Given the description of an element on the screen output the (x, y) to click on. 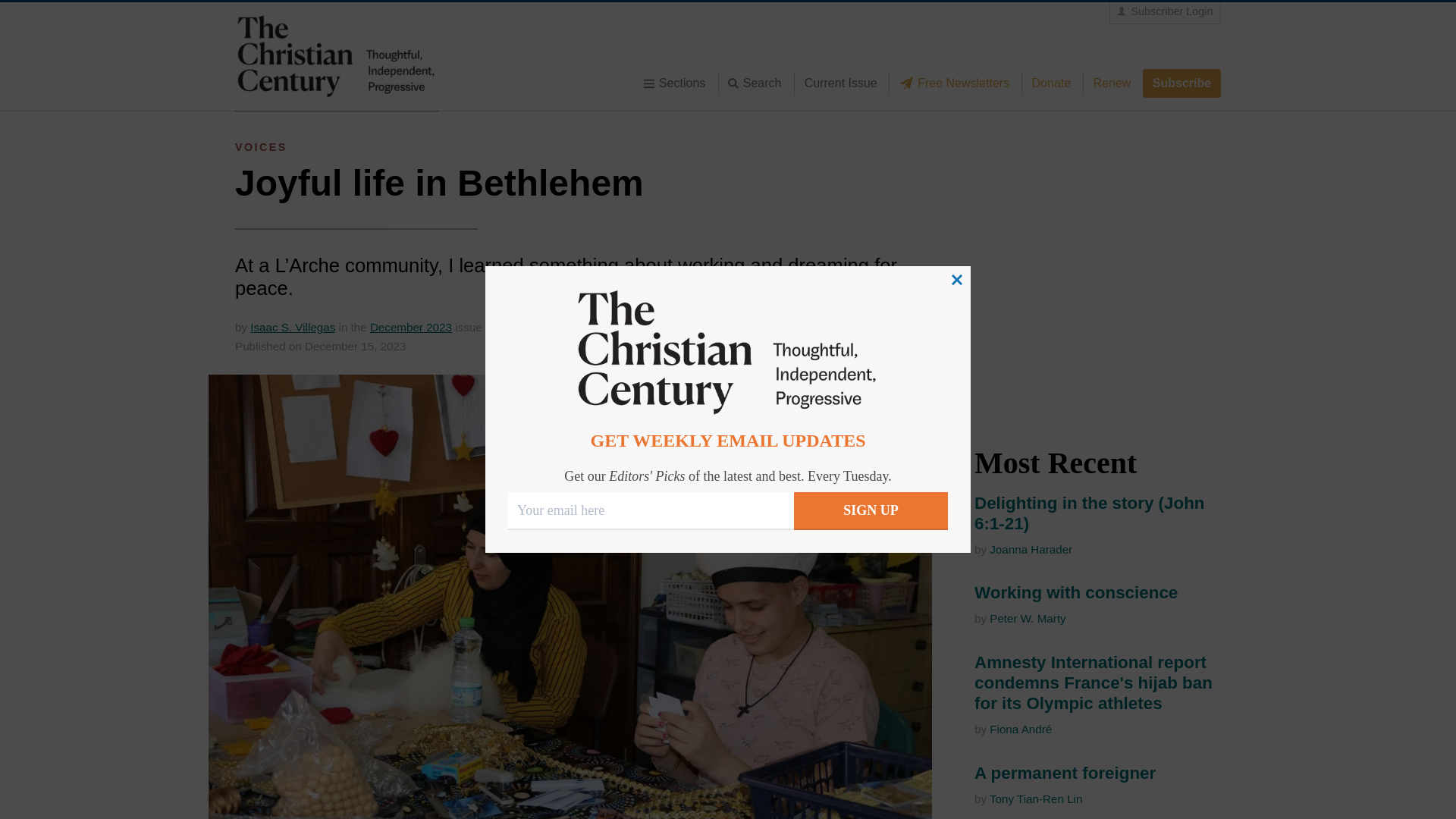
Back to homepage (336, 56)
Sign Up (870, 510)
title (759, 83)
Free Newsletters (958, 83)
Subscribe (1181, 82)
Donate (1051, 83)
Subscriber Login (1164, 11)
Close (956, 279)
Renew (1111, 83)
Current Issue (839, 83)
